Given the description of an element on the screen output the (x, y) to click on. 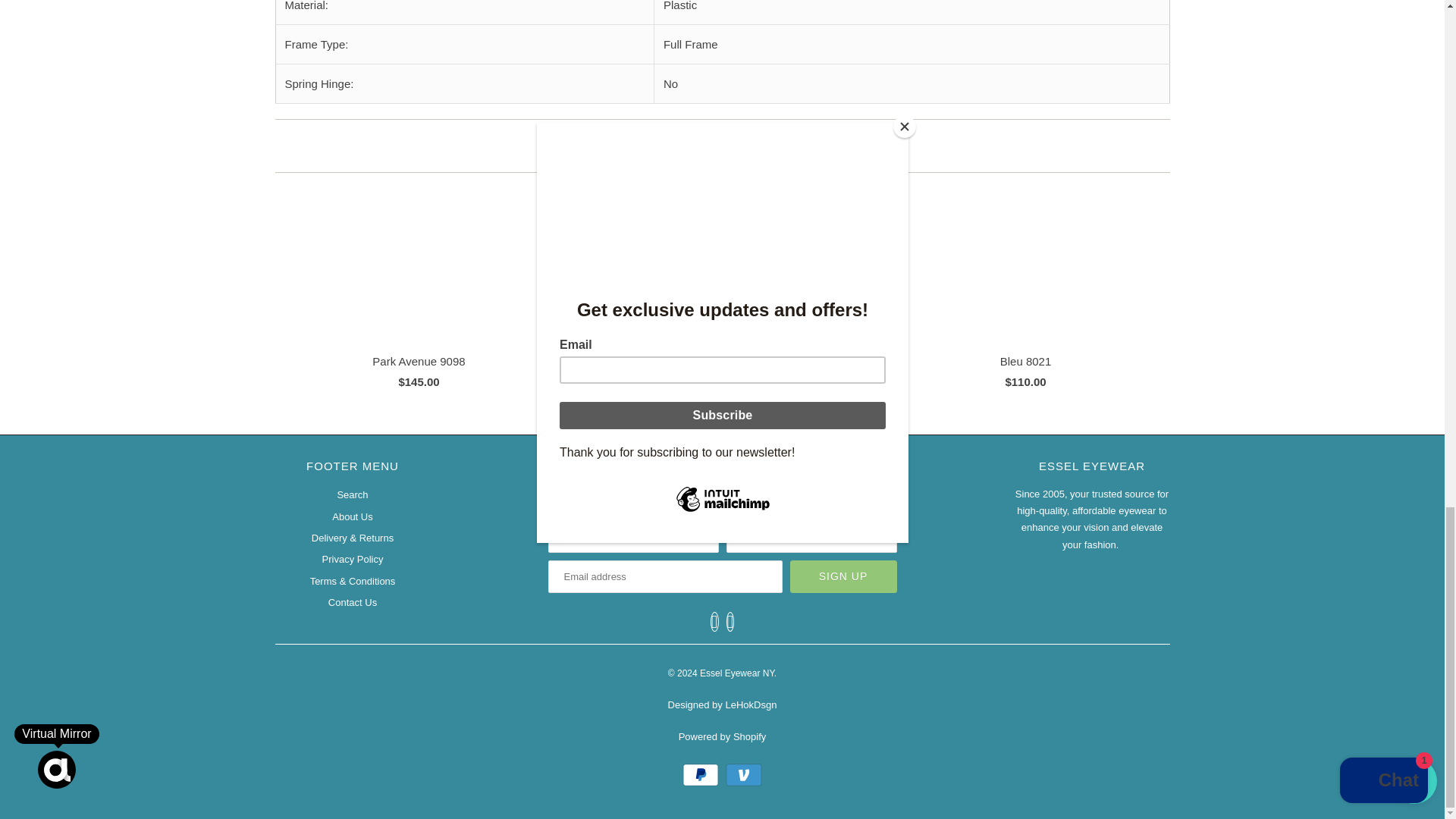
PayPal (702, 774)
Venmo (743, 774)
Sign Up (843, 576)
